Given the description of an element on the screen output the (x, y) to click on. 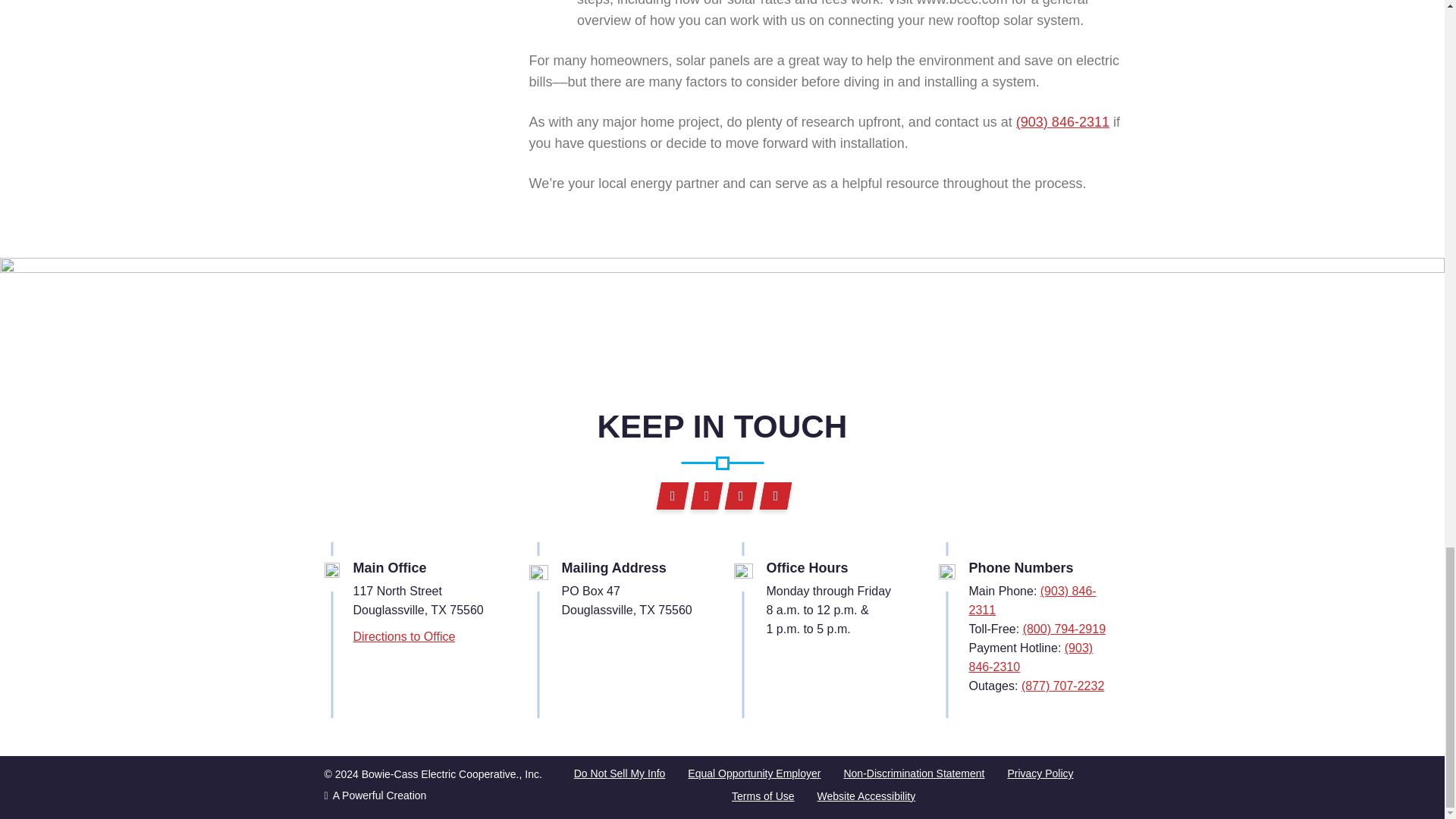
Follow on LinkedIn (738, 495)
Follow on Instagram (703, 495)
Follow on Facebook (670, 495)
Follow on YouTube (772, 495)
